Given the description of an element on the screen output the (x, y) to click on. 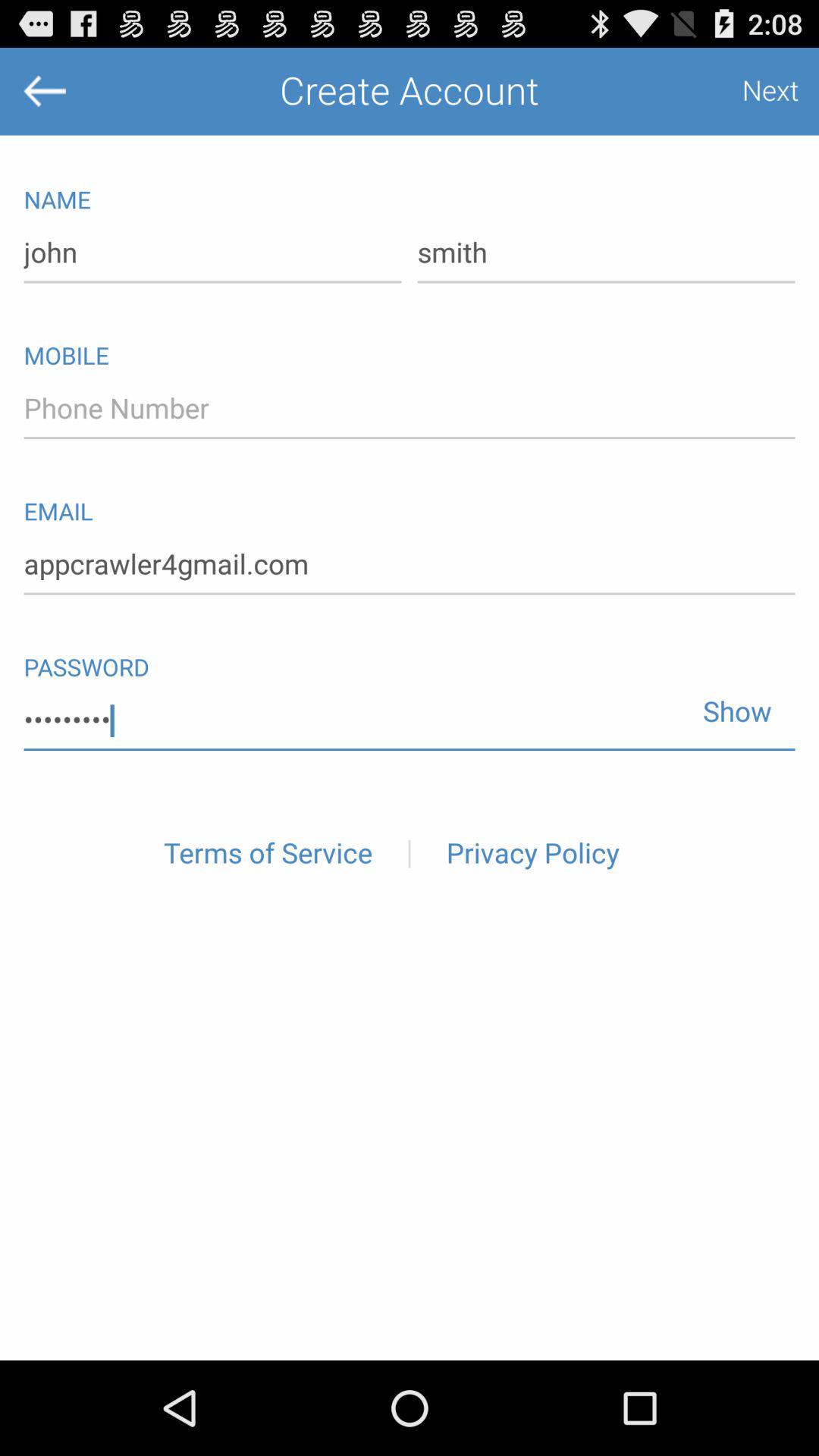
turn off the item next to create account item (755, 91)
